Given the description of an element on the screen output the (x, y) to click on. 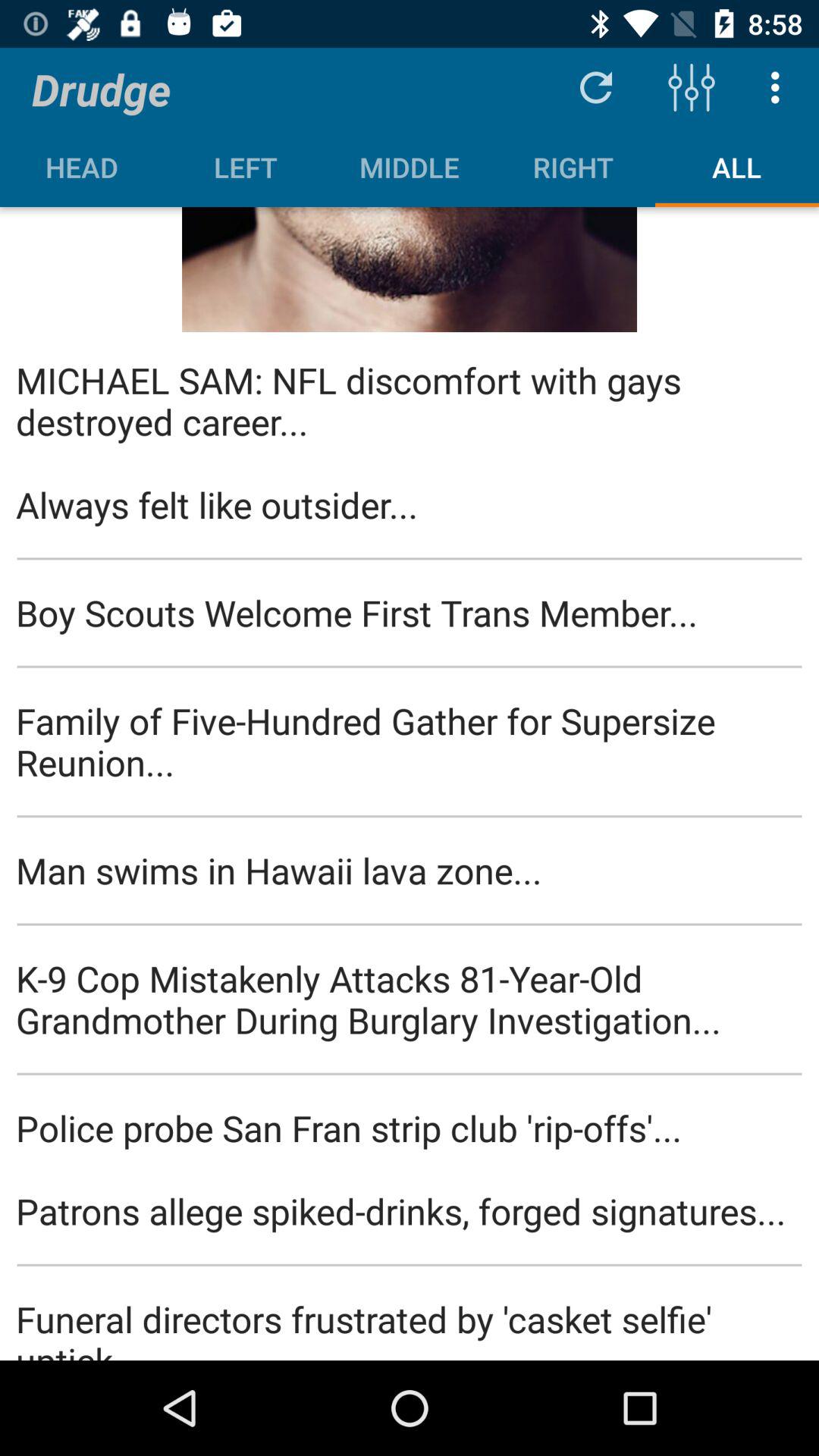
open the icon to the right of the drudge item (595, 87)
